Given the description of an element on the screen output the (x, y) to click on. 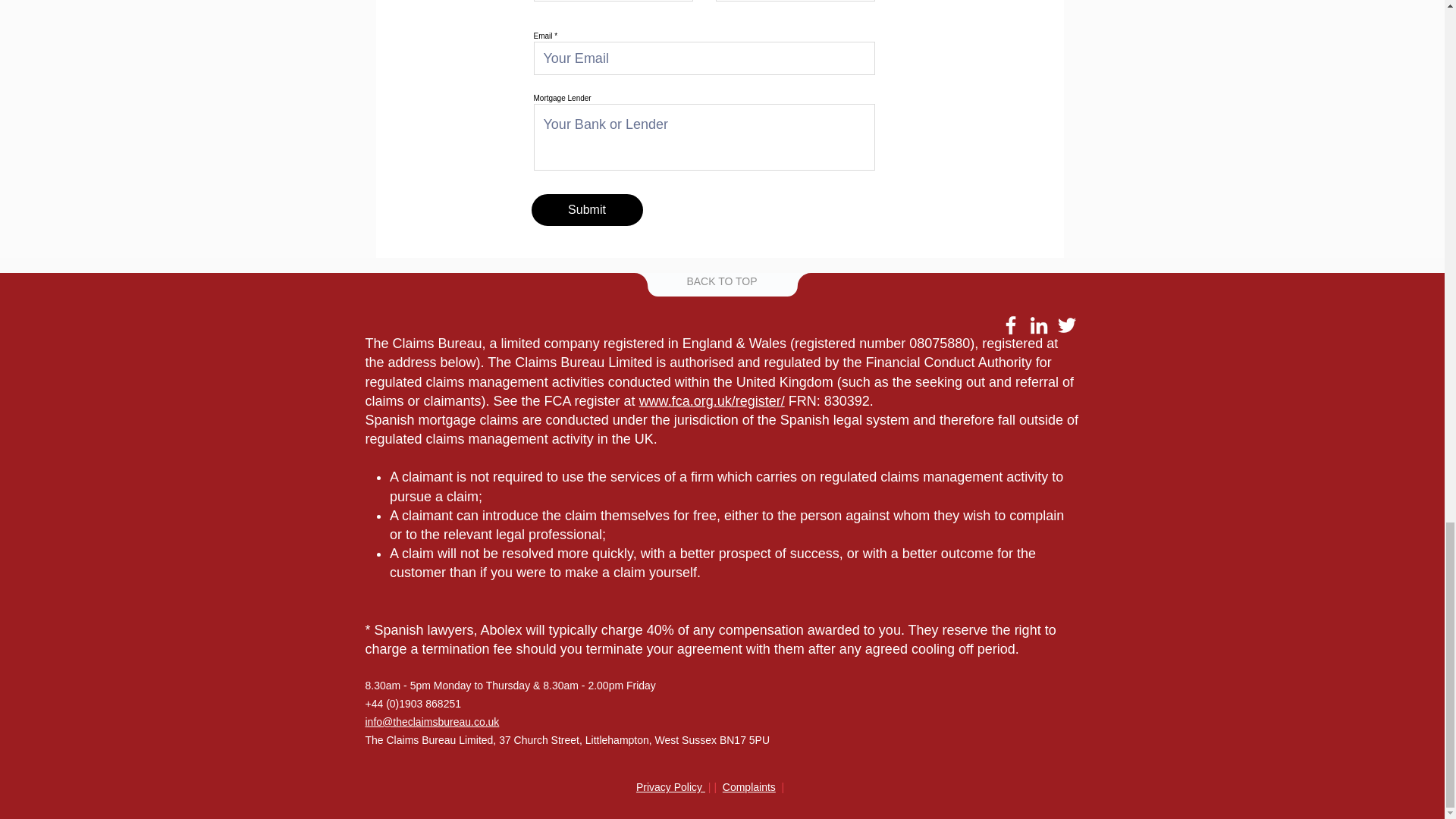
Complaints (749, 787)
Privacy Policy  (670, 787)
Submit (586, 210)
BACK TO TOP (721, 281)
